Given the description of an element on the screen output the (x, y) to click on. 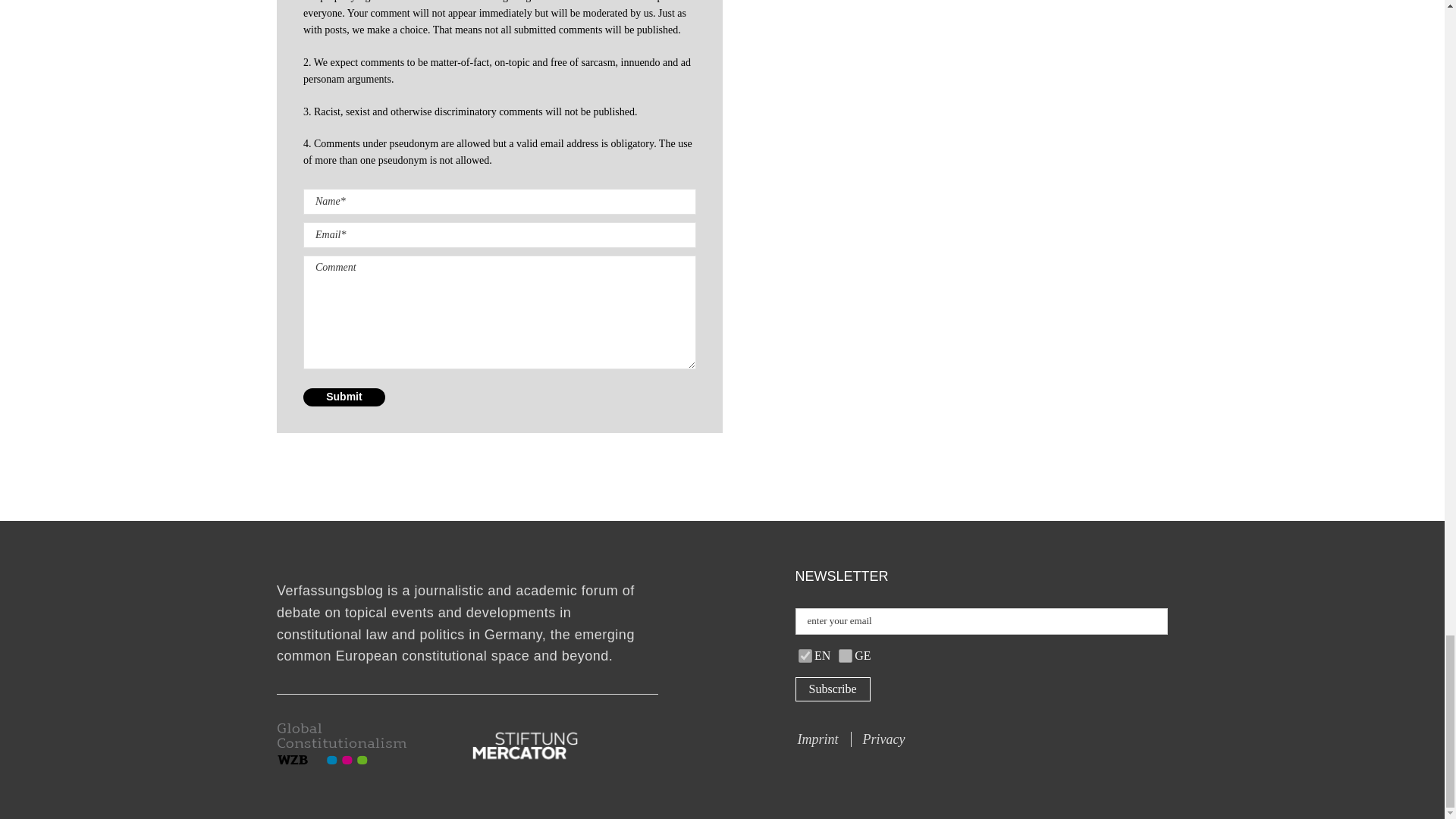
1 (844, 655)
Submit (343, 397)
2 (804, 655)
Subscribe (831, 689)
